Given the description of an element on the screen output the (x, y) to click on. 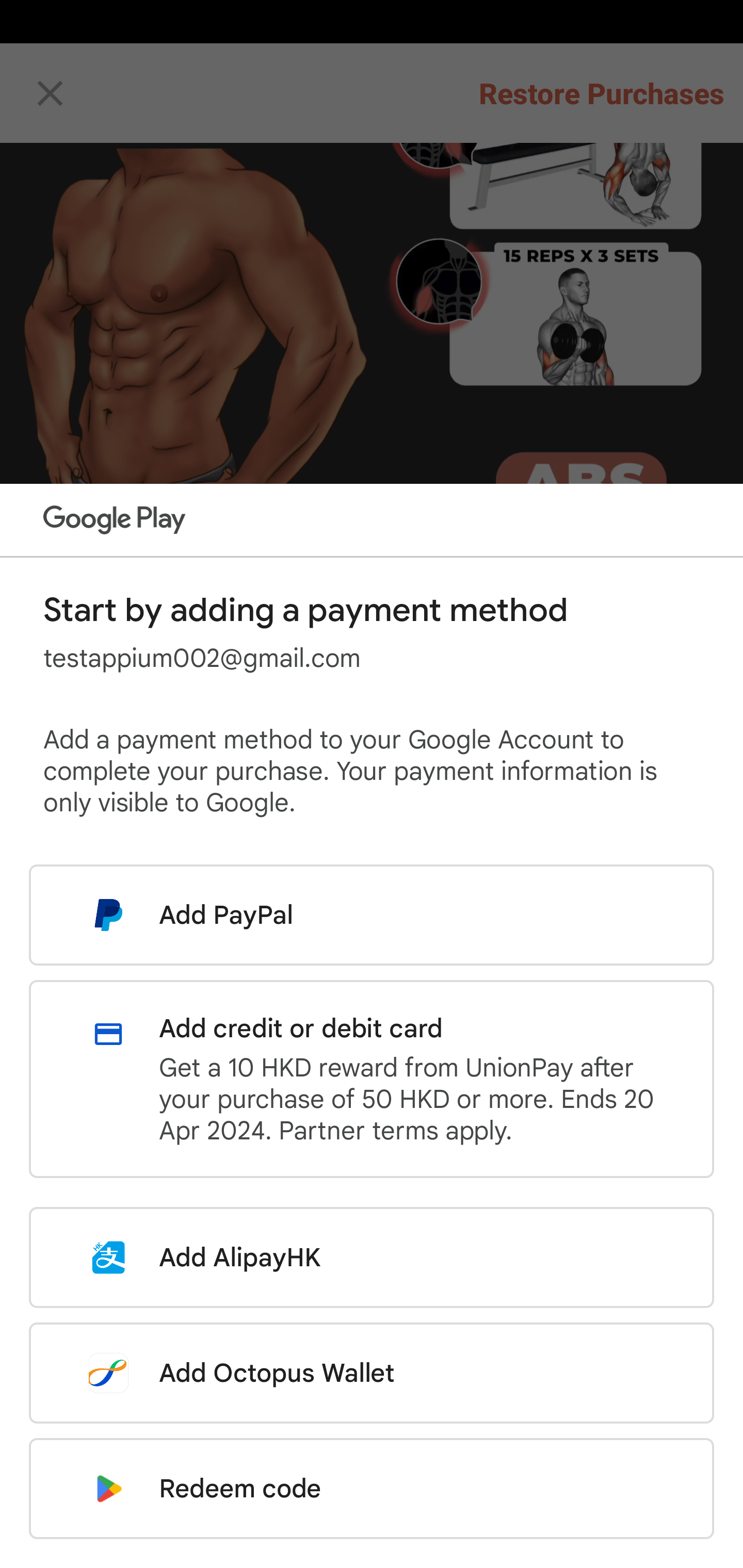
Add PayPal (371, 914)
Add AlipayHK (371, 1257)
Add Octopus Wallet (371, 1372)
Redeem code (371, 1488)
